Given the description of an element on the screen output the (x, y) to click on. 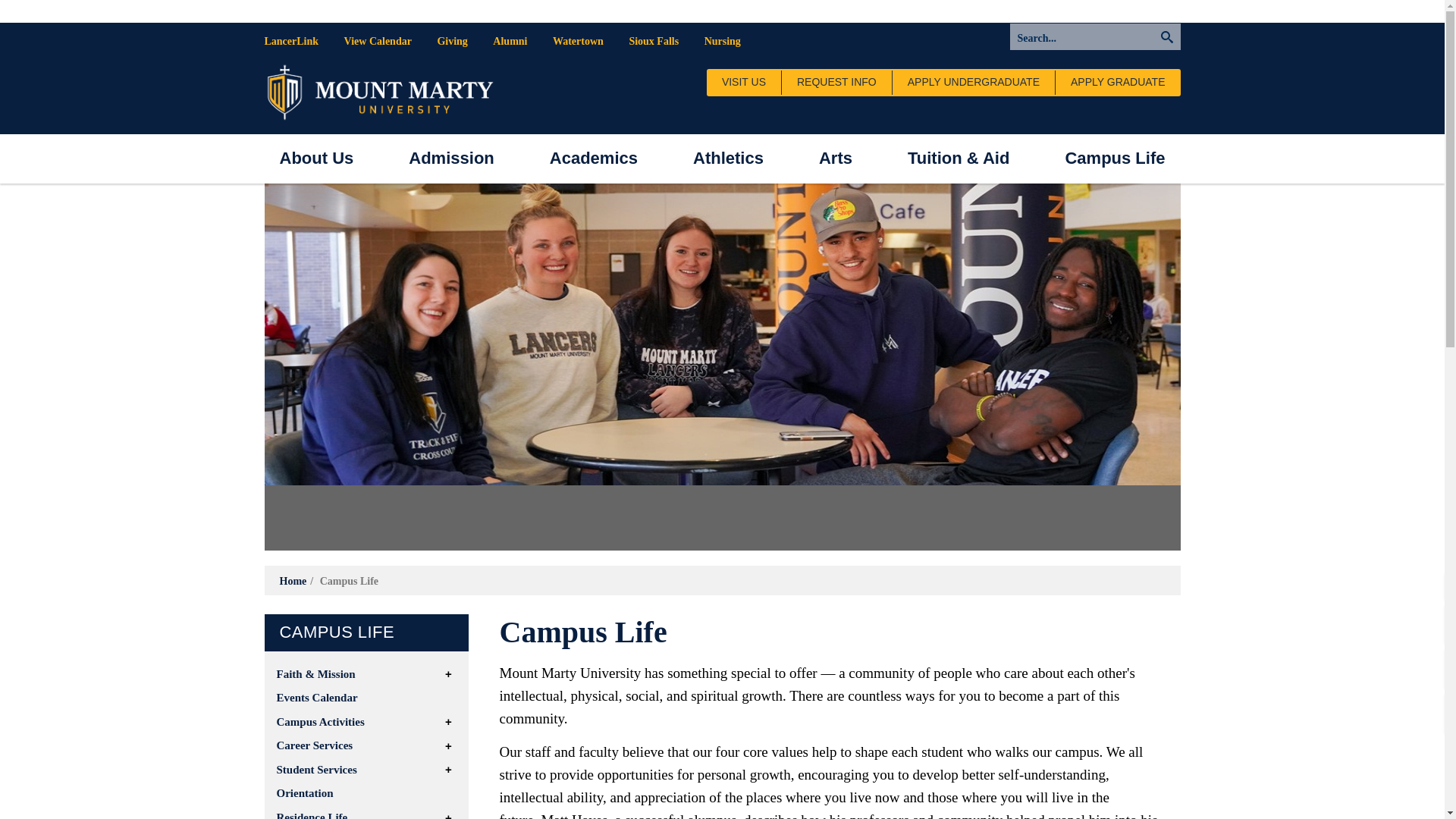
Request Info (836, 82)
APPLY GRADUATE (1117, 82)
About Us (315, 158)
Nursing (722, 41)
Alumni (509, 41)
REQUEST INFO (836, 82)
Apply Graduate (1117, 82)
Apply Undergraduate (973, 82)
Admission (450, 158)
View Calendar (378, 41)
